Given the description of an element on the screen output the (x, y) to click on. 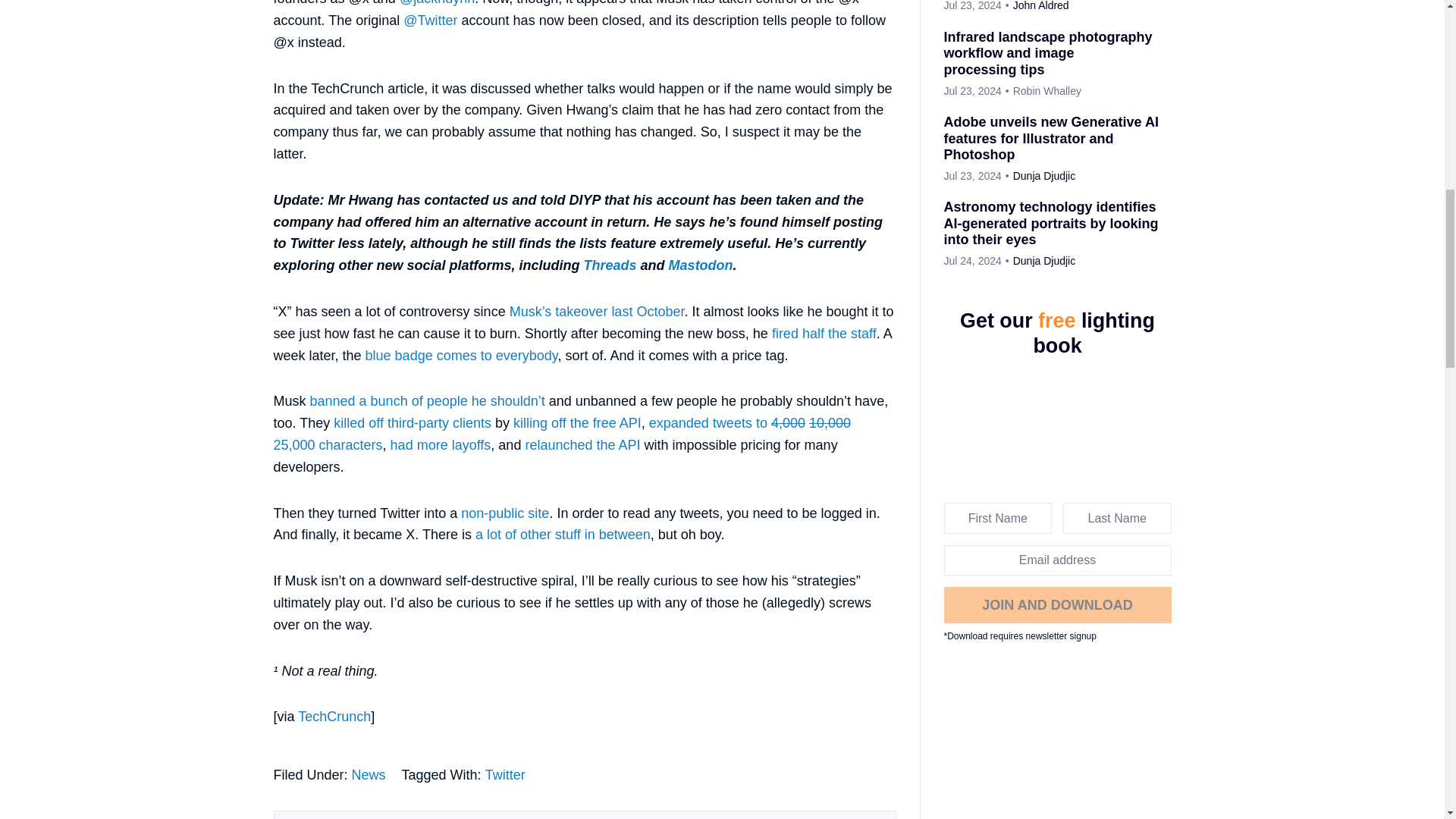
Join and Download (1056, 605)
